Given the description of an element on the screen output the (x, y) to click on. 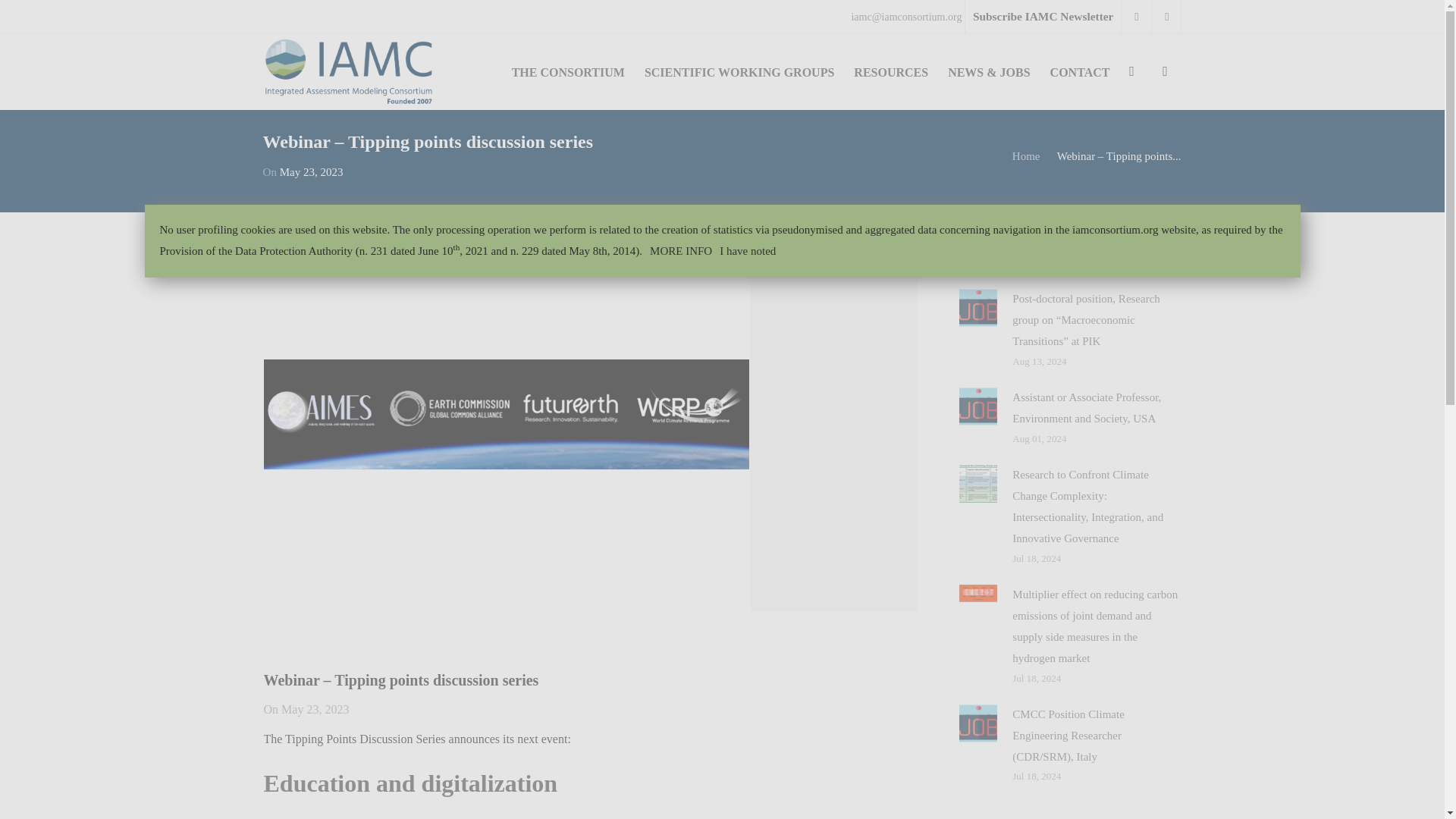
SCIENTIFIC WORKING GROUPS (739, 71)
THE CONSORTIUM (568, 71)
RESOURCES (890, 71)
Subscribe IAMC Newsletter (1042, 16)
Subscribe IAMC Newsletter (1042, 16)
